Given the description of an element on the screen output the (x, y) to click on. 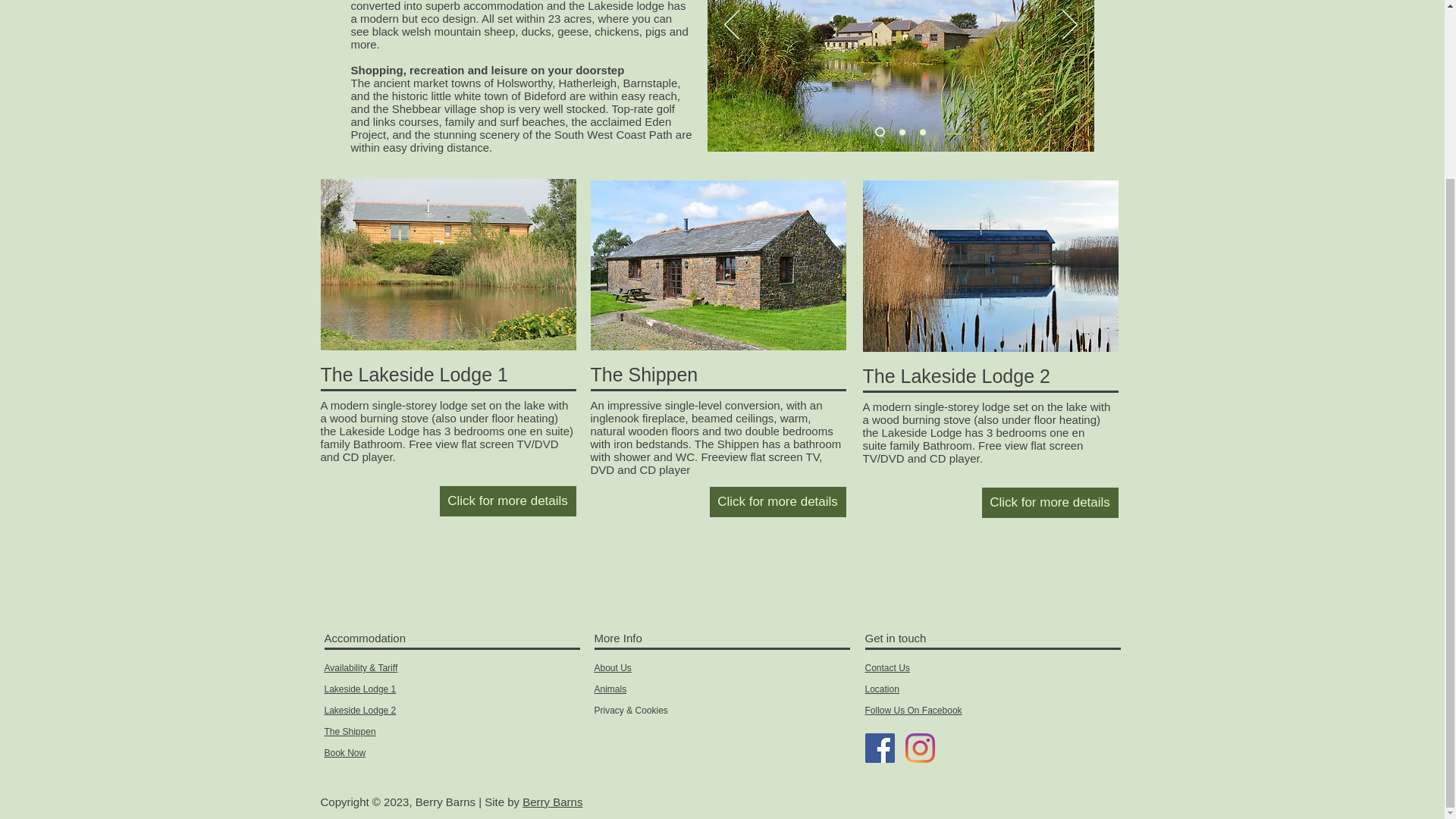
The Shippen (349, 731)
Lakeside Lodge 2 (360, 710)
Animals (610, 688)
Location (881, 688)
Book Now (345, 752)
About Us (612, 667)
Click for more details (507, 501)
Click for more details (1049, 502)
Berry Barns (552, 801)
Follow Us On Facebook (912, 710)
Lakeside Lodge 1 (360, 688)
Click for more details (777, 501)
Contact Us (886, 667)
